Given the description of an element on the screen output the (x, y) to click on. 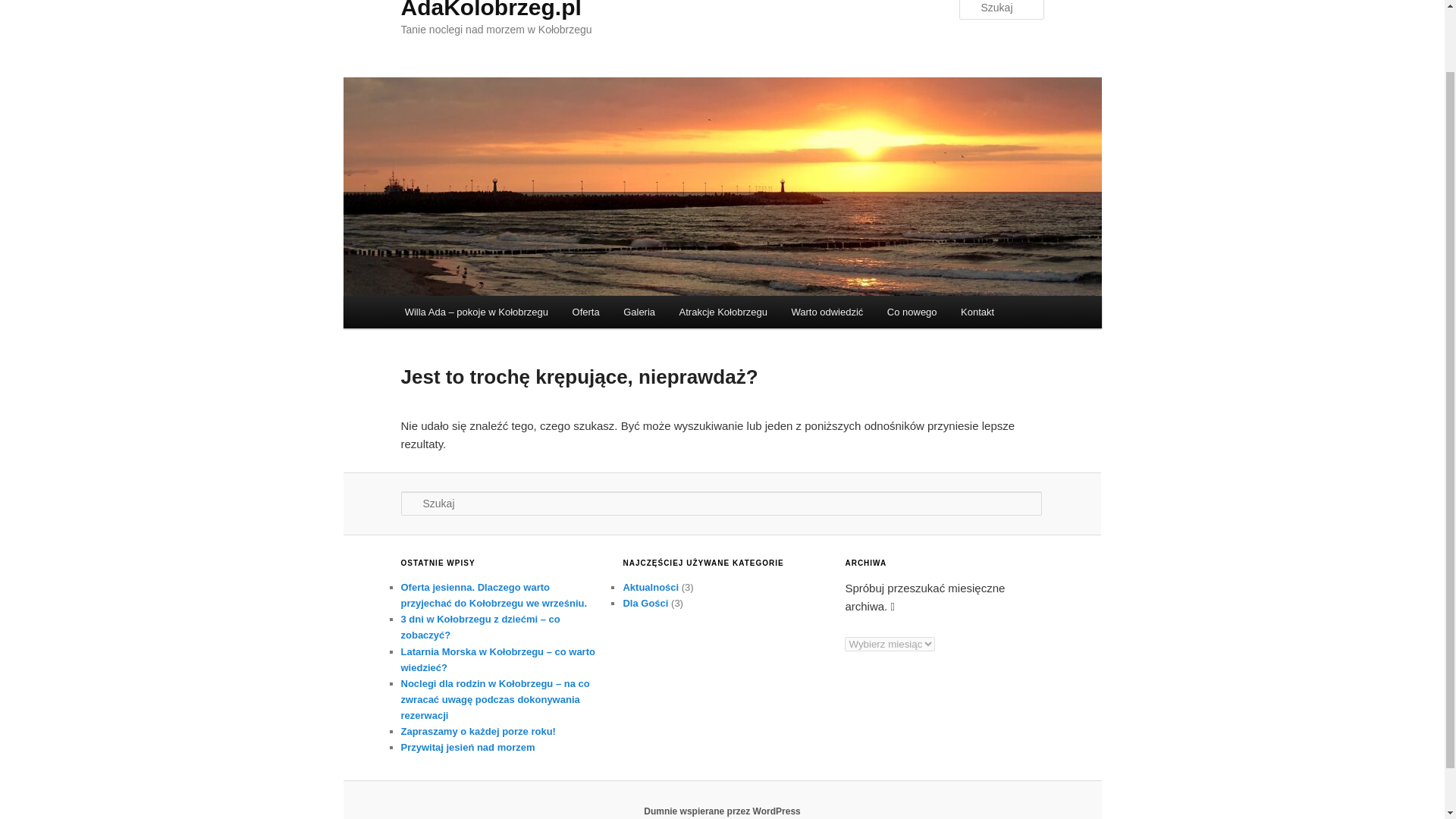
Dumnie wspierane przez WordPress (721, 810)
Galeria (638, 311)
Co nowego (912, 311)
AdaKolobrzeg.pl (490, 9)
Oferta (585, 311)
Semantyczna platforma publikowania osobistego (721, 810)
Kontakt (977, 311)
